Given the description of an element on the screen output the (x, y) to click on. 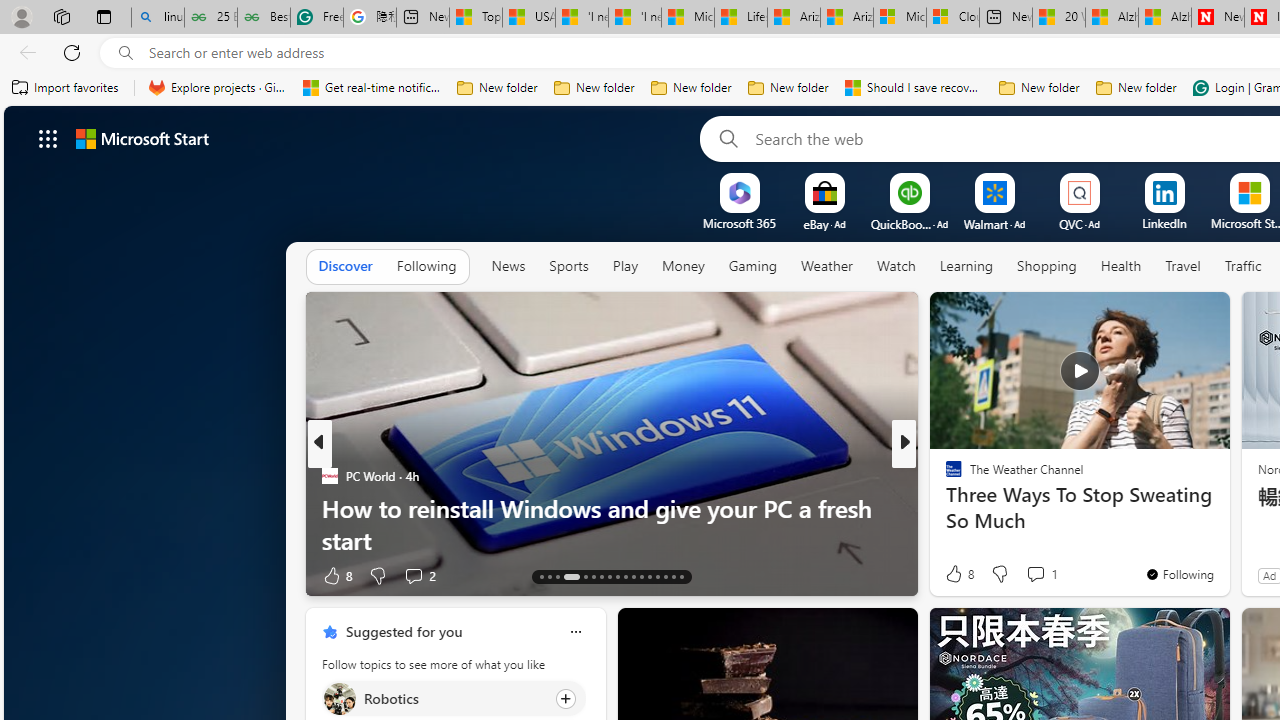
PC World (329, 475)
You're following The Weather Channel (1179, 573)
Lifestyle - MSN (740, 17)
Suggested for you (404, 631)
HuffPost (944, 475)
View comments 10 Comment (1042, 575)
AutomationID: tab-24 (641, 576)
The Independent (944, 475)
Ad (1269, 575)
AutomationID: tab-18 (592, 576)
127 Like (959, 574)
